Given the description of an element on the screen output the (x, y) to click on. 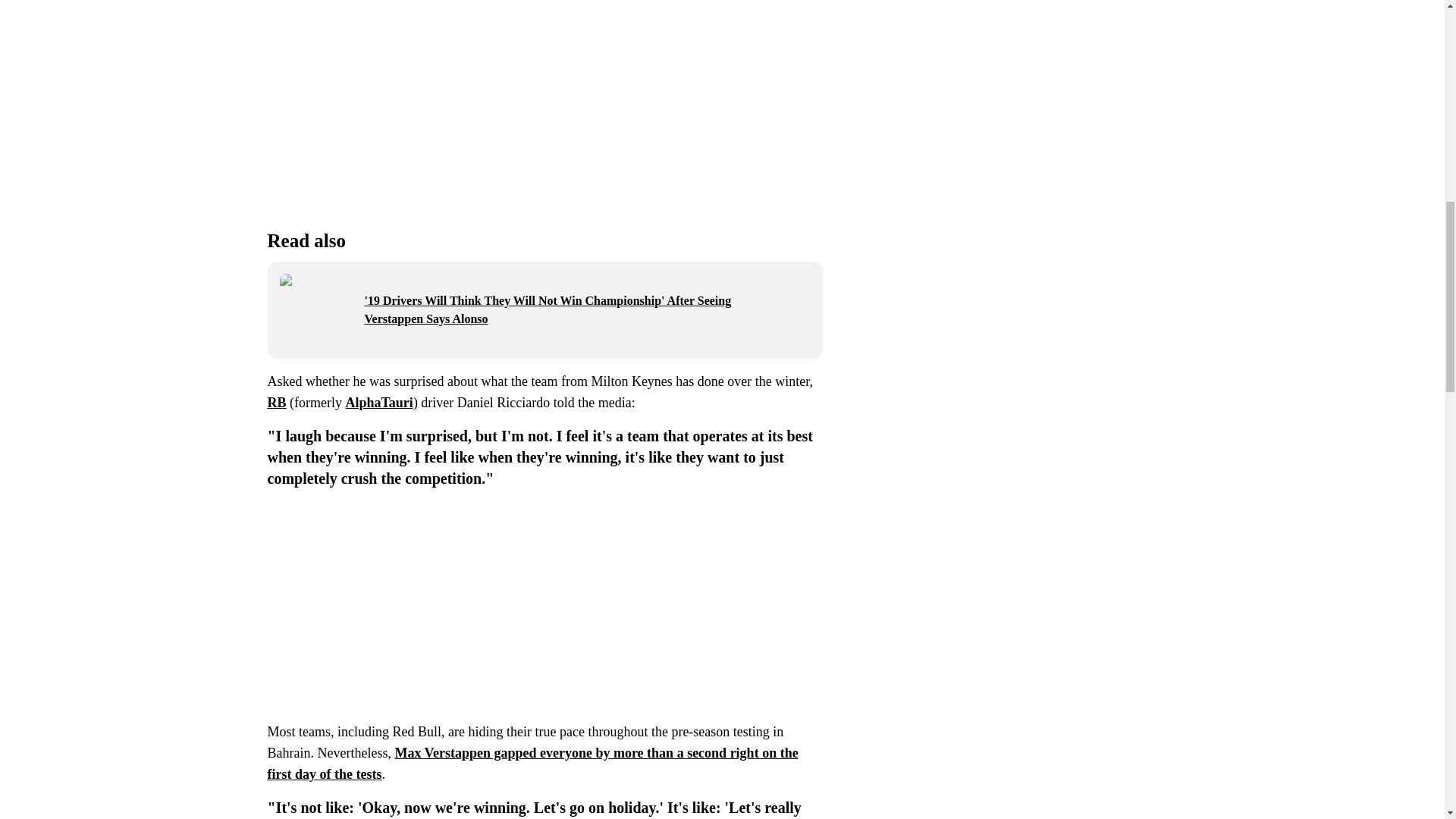
RB (275, 402)
AlphaTauri (378, 402)
RB (275, 402)
AlphaTauri (378, 402)
